Given the description of an element on the screen output the (x, y) to click on. 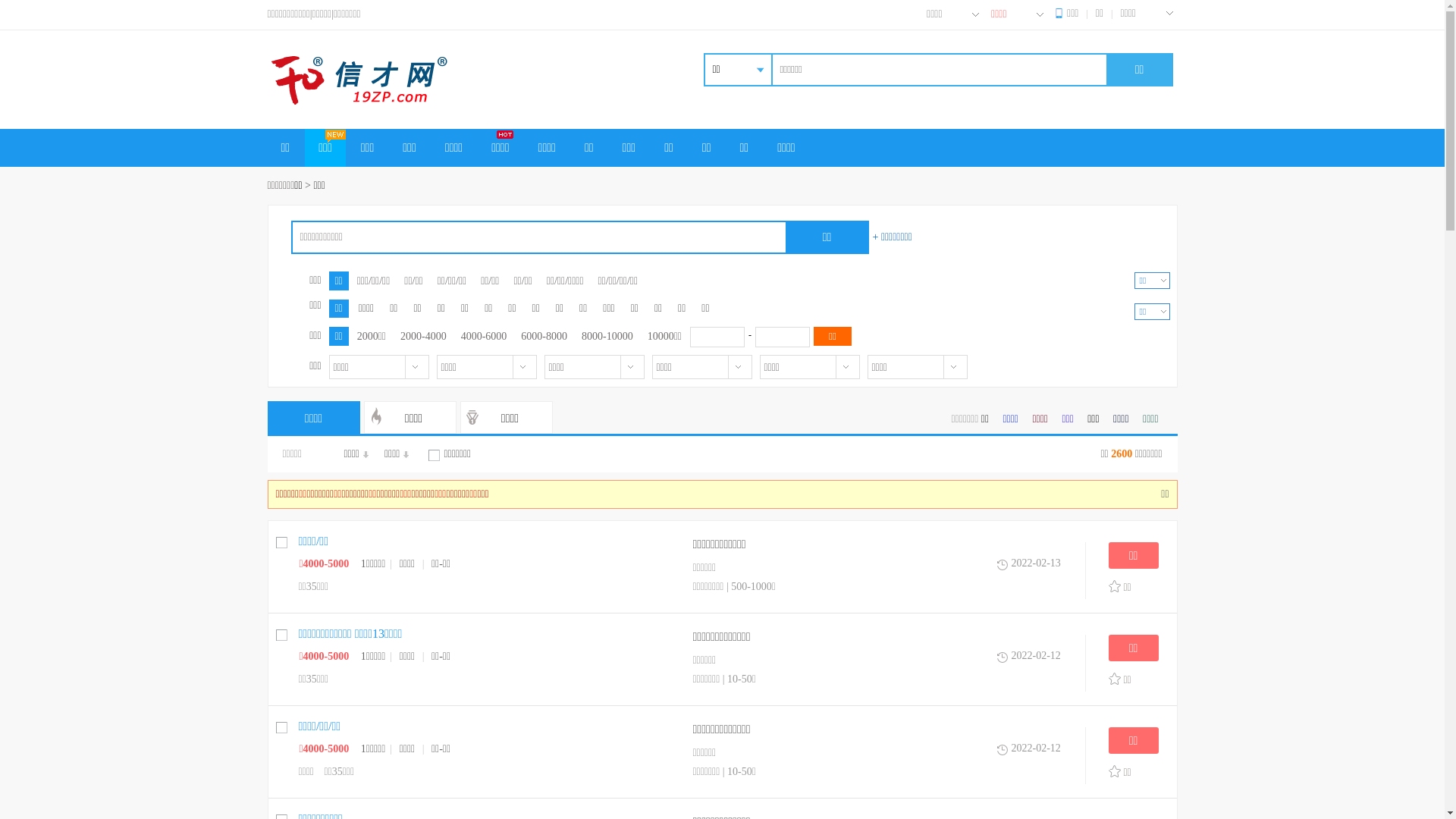
6000-8000 Element type: text (543, 335)
8000-10000 Element type: text (607, 335)
2000-4000 Element type: text (423, 335)
4000-6000 Element type: text (484, 335)
